Given the description of an element on the screen output the (x, y) to click on. 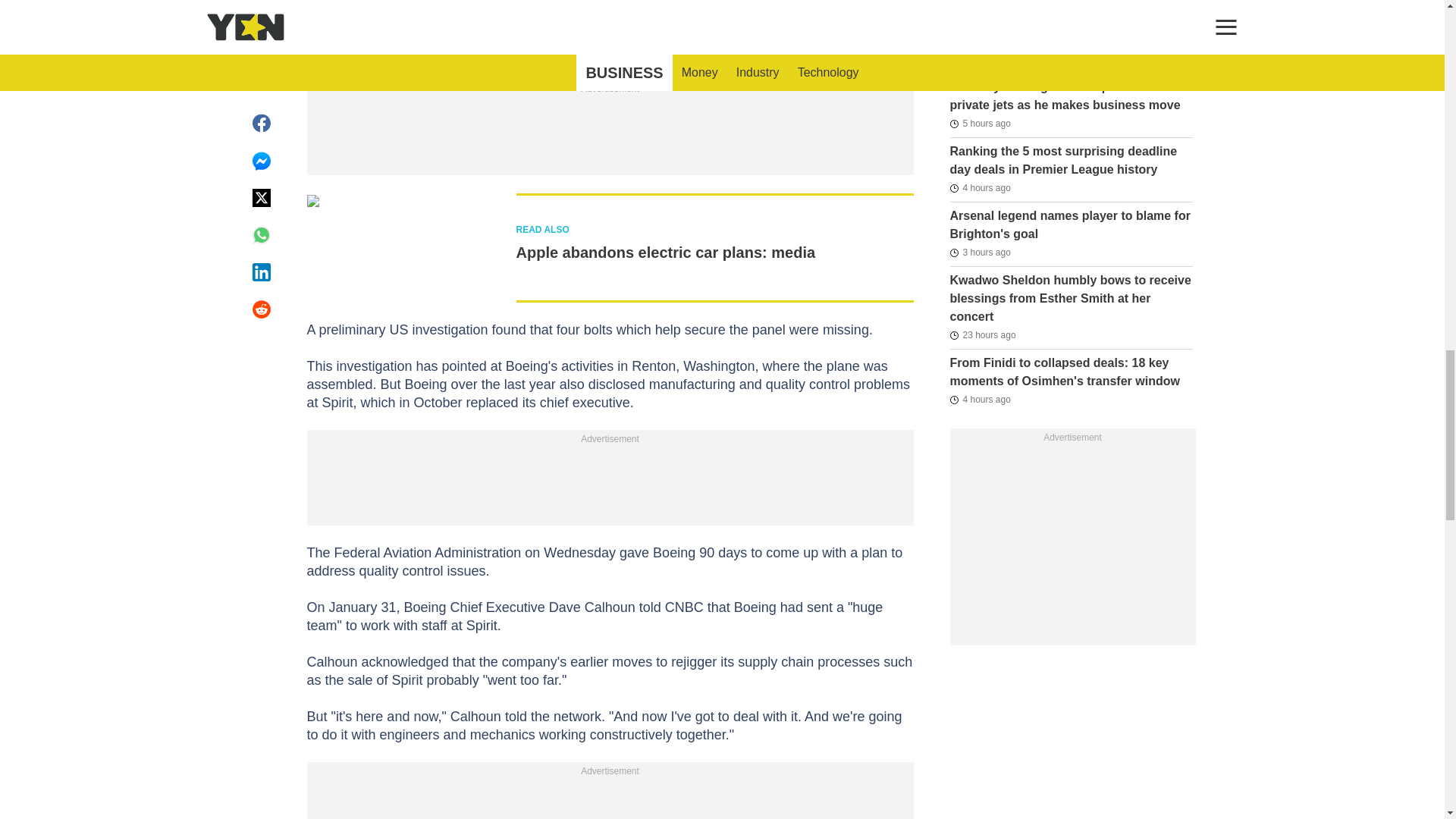
2023-08-14T15:45:05Z (977, 13)
2024-09-01T09:52:05Z (979, 399)
2024-09-01T10:30:07Z (979, 252)
2024-08-31T15:00:17Z (981, 334)
2024-09-01T09:45:28Z (979, 188)
2024-09-01T08:34:23Z (979, 123)
